Given the description of an element on the screen output the (x, y) to click on. 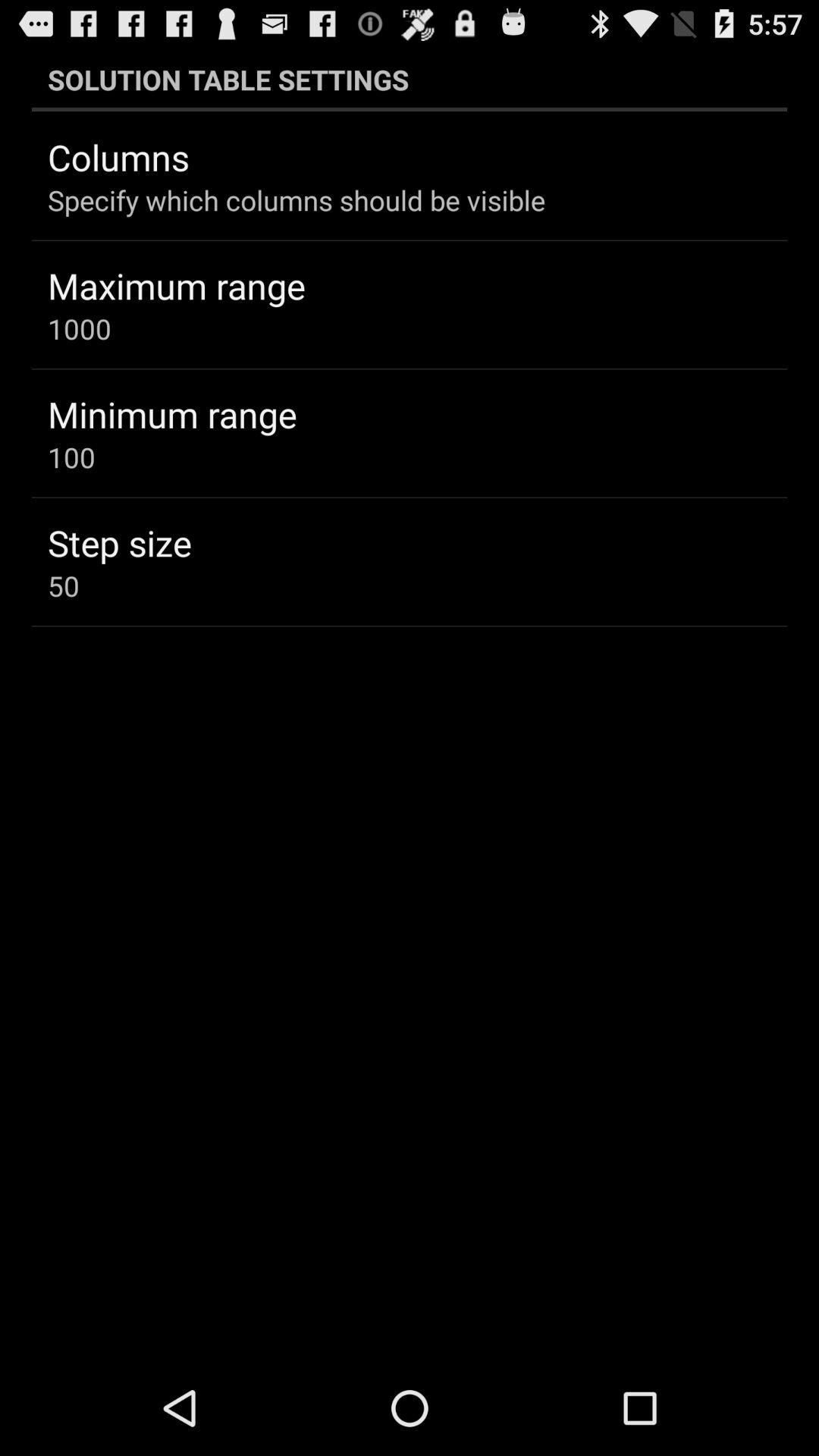
flip until 1000 app (79, 328)
